Given the description of an element on the screen output the (x, y) to click on. 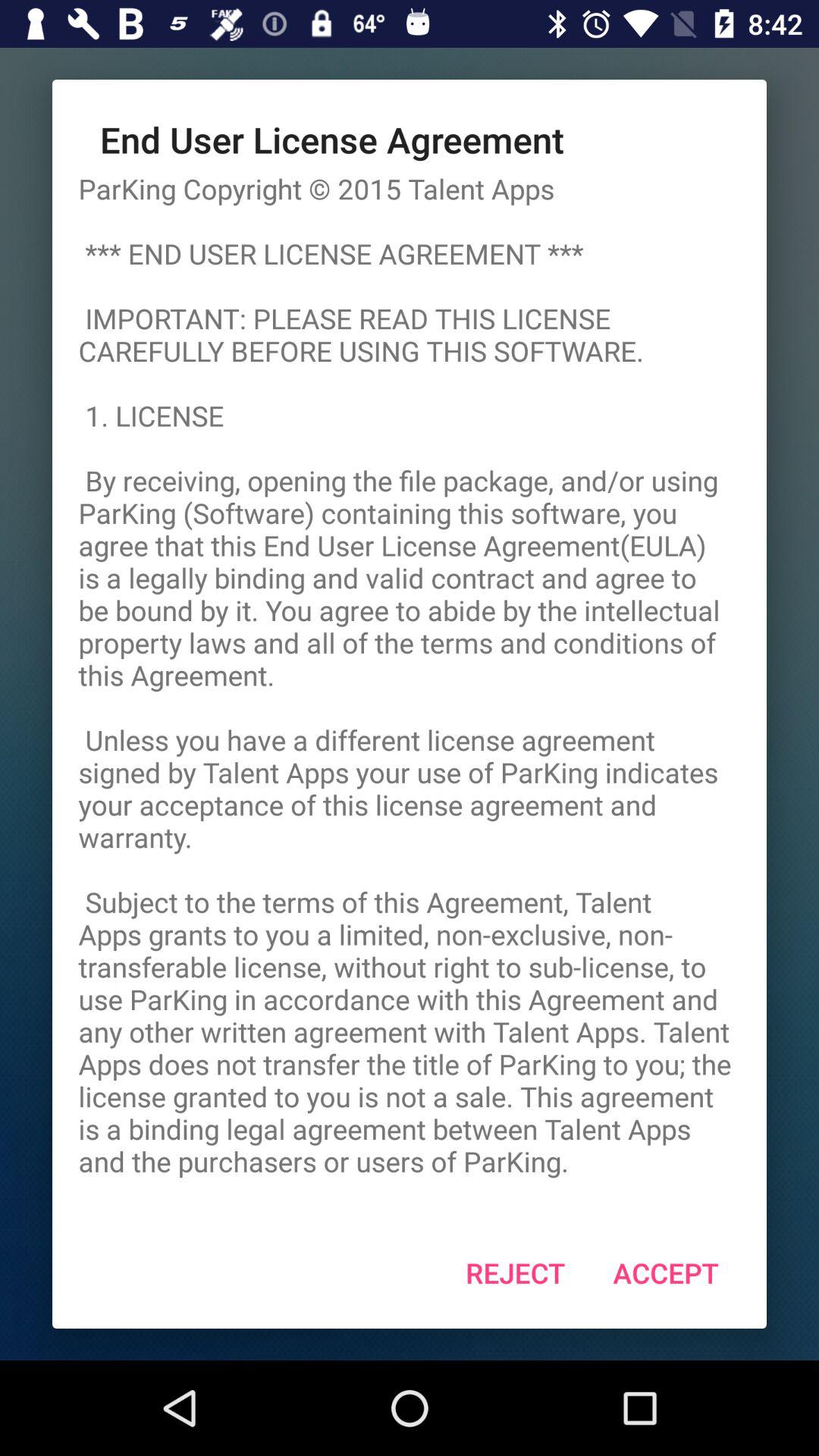
tap icon next to accept button (515, 1272)
